Given the description of an element on the screen output the (x, y) to click on. 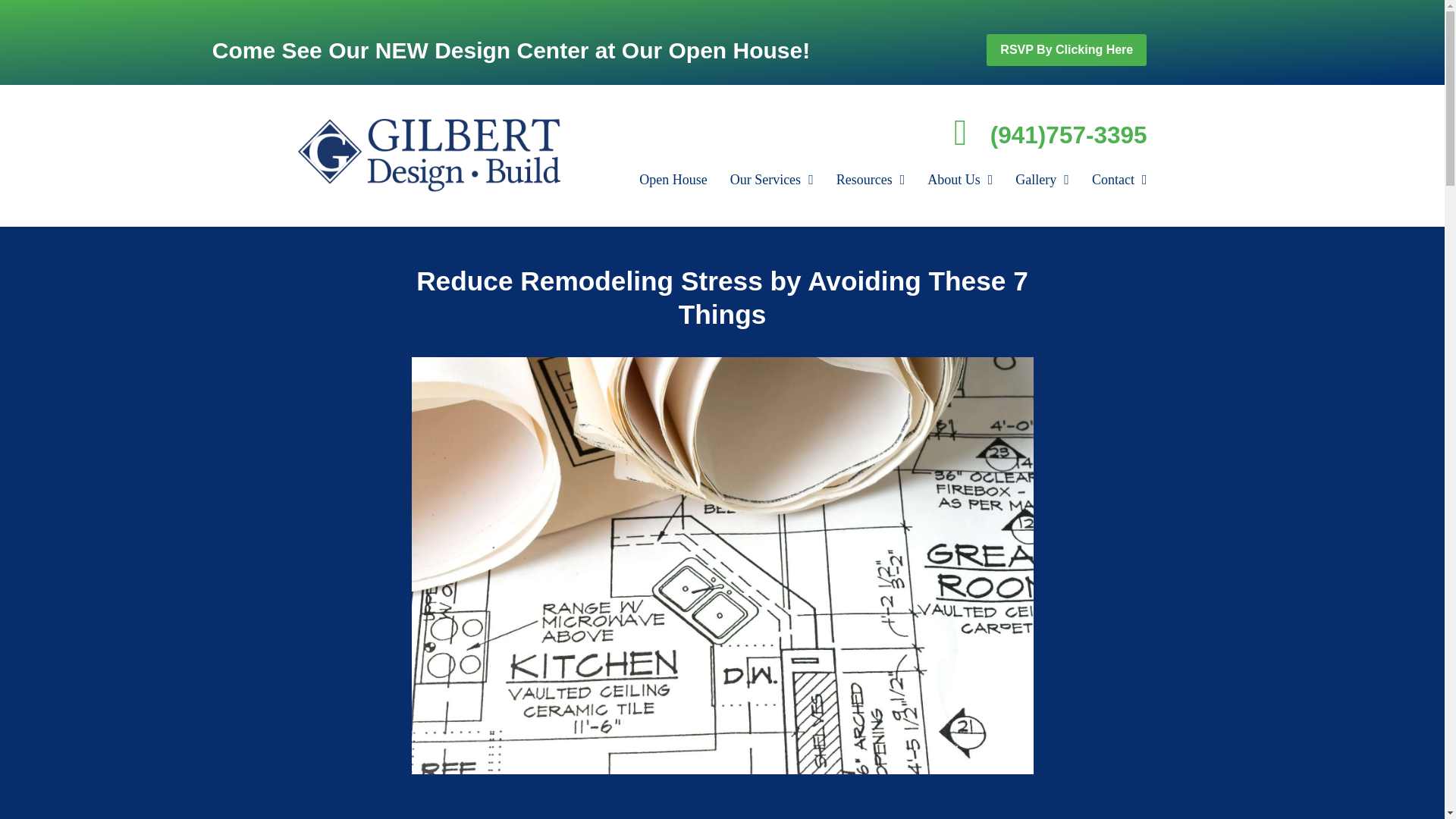
Contact (1119, 179)
Gallery (1042, 179)
About Us (960, 179)
Our Services (771, 179)
GilbertDesignBuild-logo (428, 154)
Resources (870, 179)
Open House (672, 179)
